Given the description of an element on the screen output the (x, y) to click on. 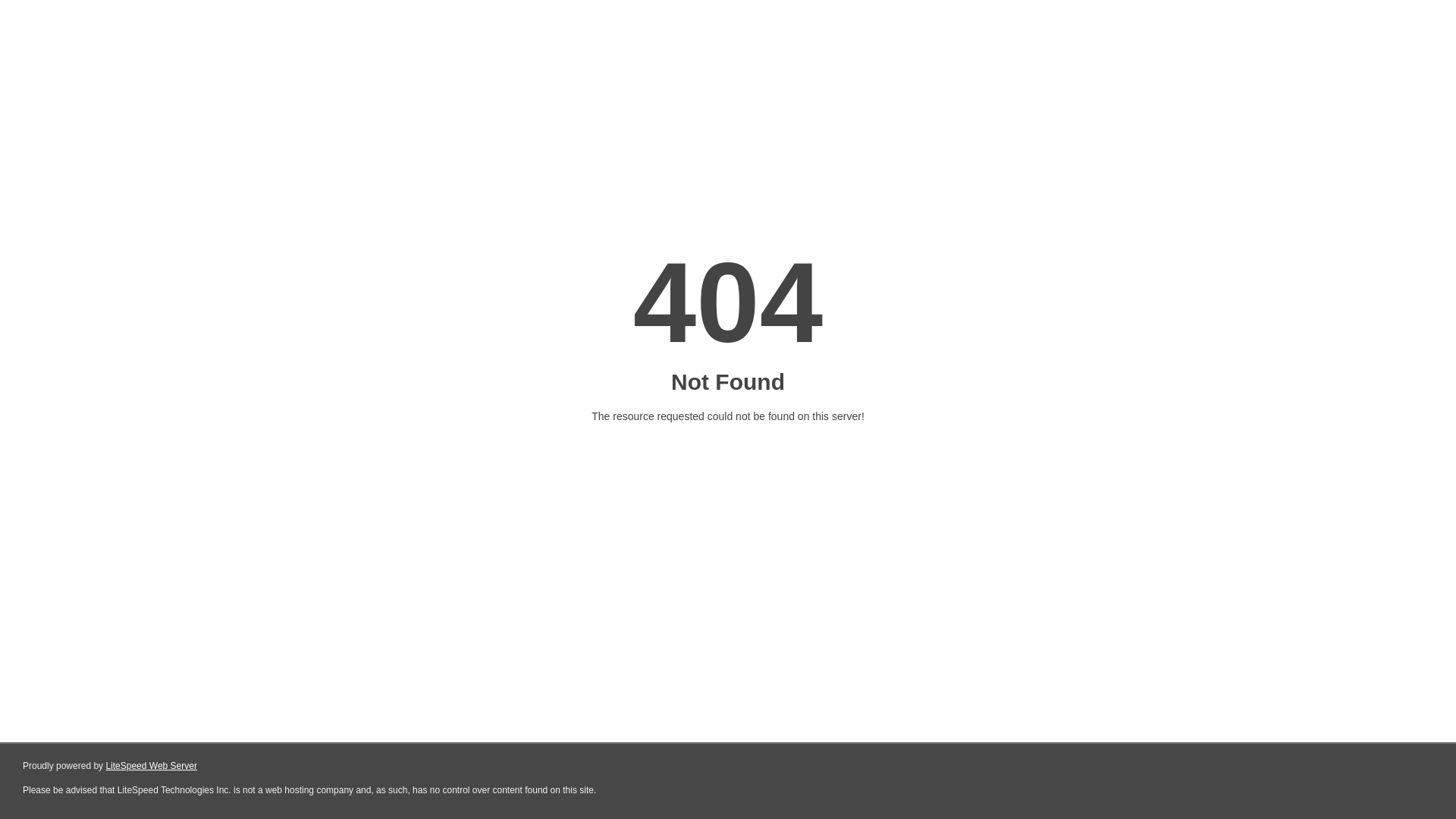
LiteSpeed Web Server Element type: text (151, 765)
